Given the description of an element on the screen output the (x, y) to click on. 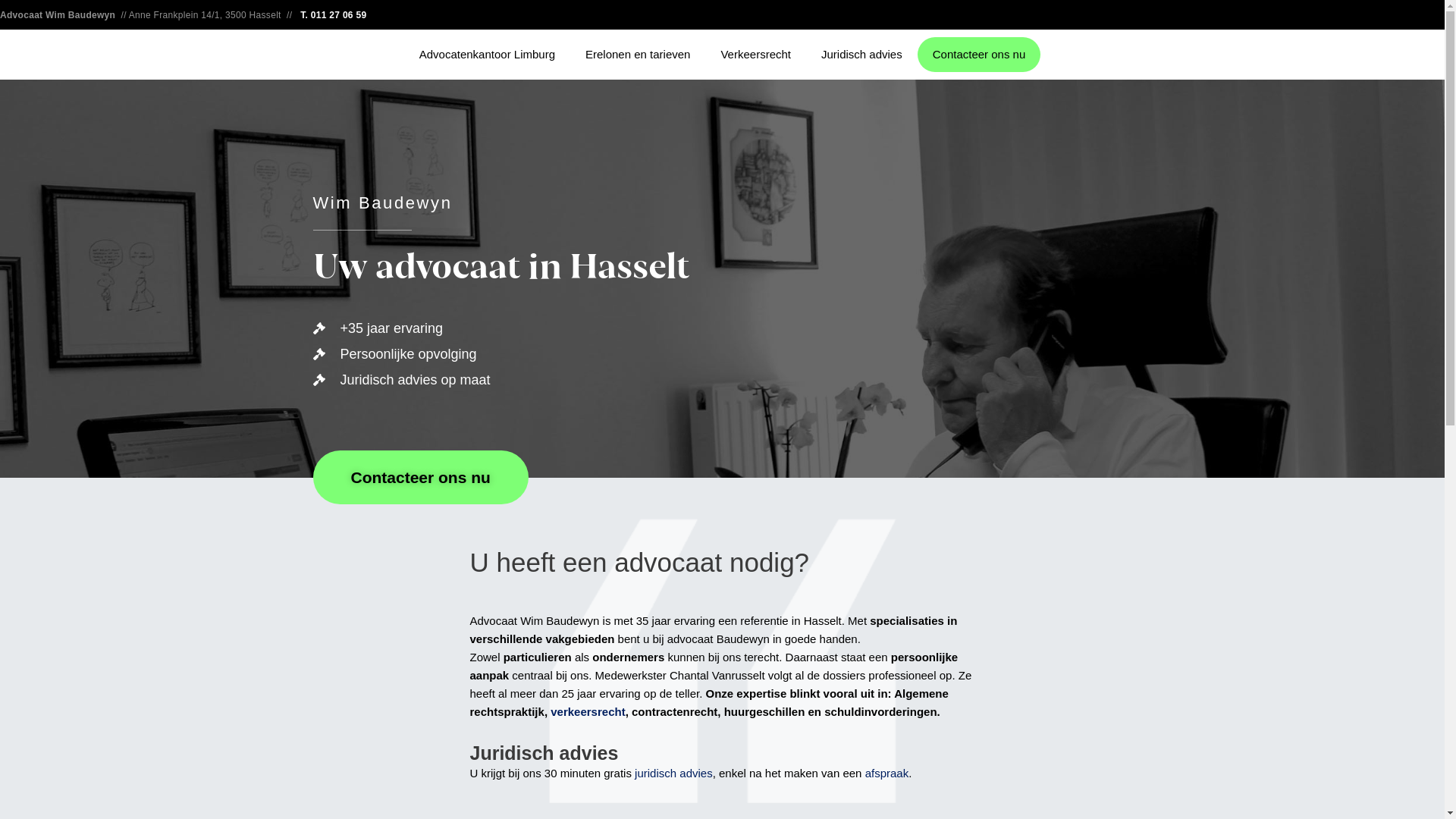
Advocatenkantoor Limburg Element type: text (487, 54)
Contacteer ons nu Element type: text (419, 477)
Contacteer ons nu Element type: text (979, 54)
juridisch advies Element type: text (673, 772)
Verkeersrecht Element type: text (755, 54)
Juridisch advies Element type: text (861, 54)
Erelonen en tarieven Element type: text (637, 54)
011 27 06 59 Element type: text (338, 14)
verkeersrecht Element type: text (587, 711)
afspraak Element type: text (887, 772)
